Given the description of an element on the screen output the (x, y) to click on. 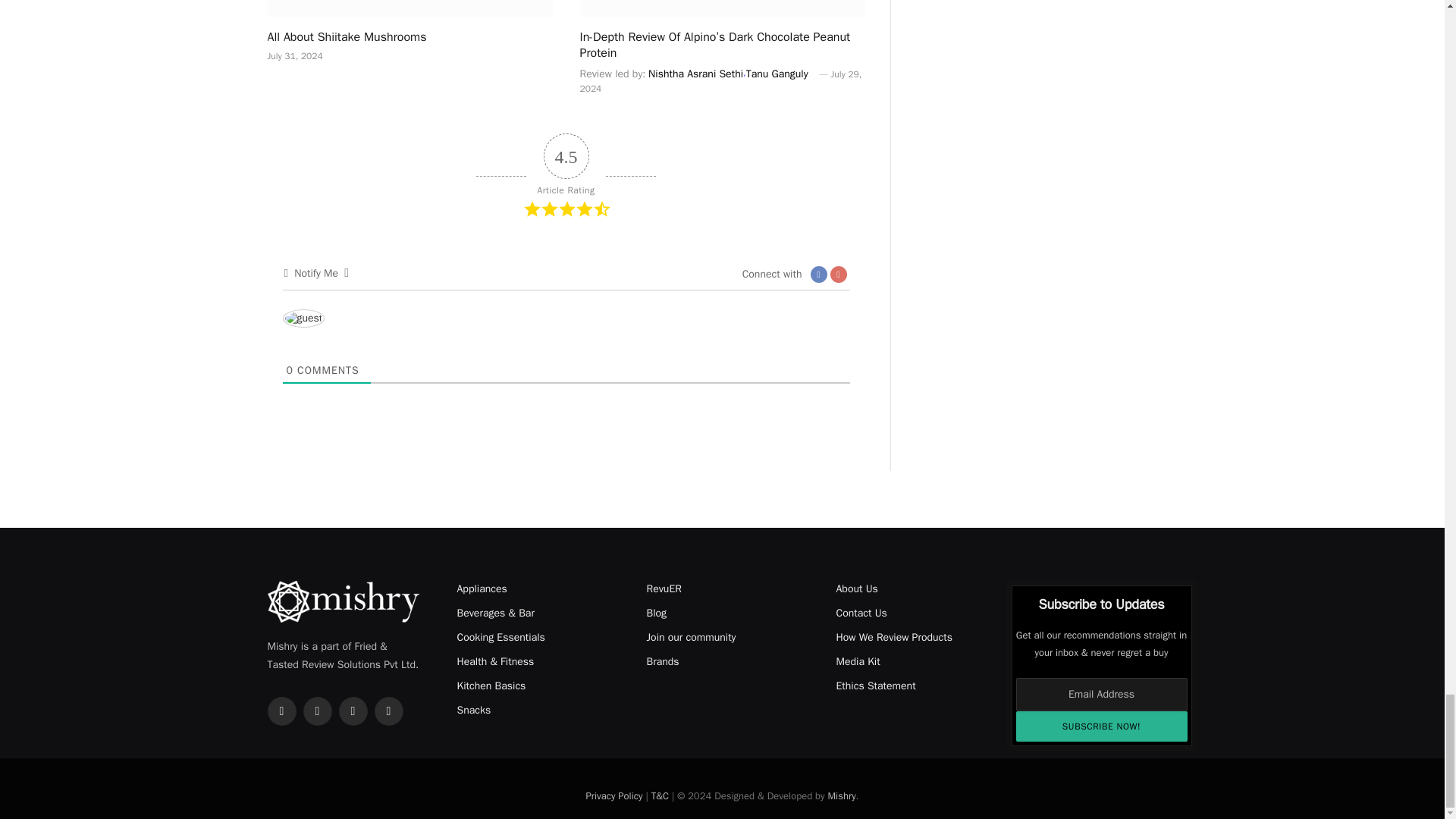
Subscribe Now! (1102, 726)
